Given the description of an element on the screen output the (x, y) to click on. 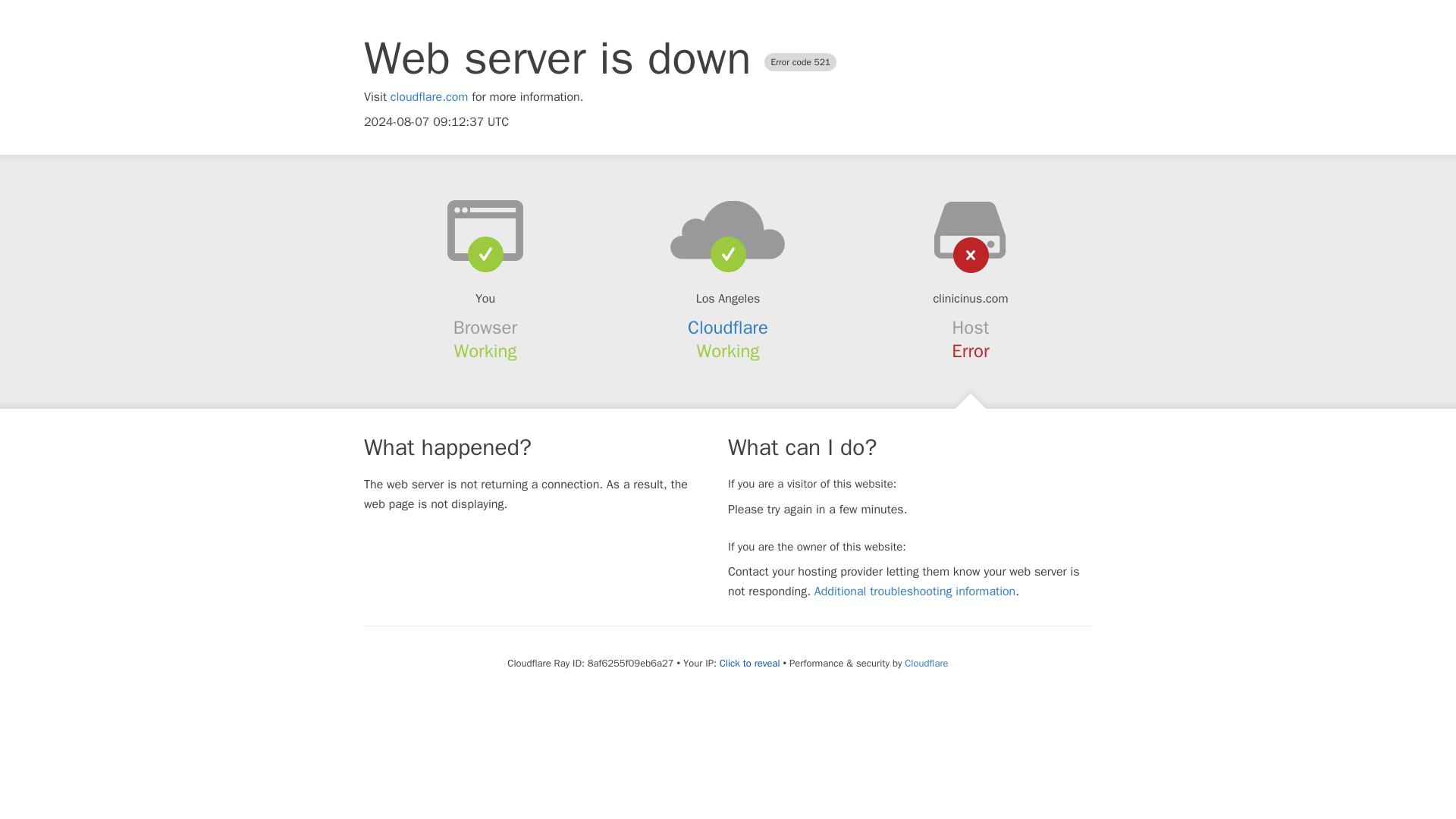
Click to reveal (749, 663)
Cloudflare (925, 662)
Cloudflare (727, 327)
cloudflare.com (429, 96)
Additional troubleshooting information (913, 590)
